Given the description of an element on the screen output the (x, y) to click on. 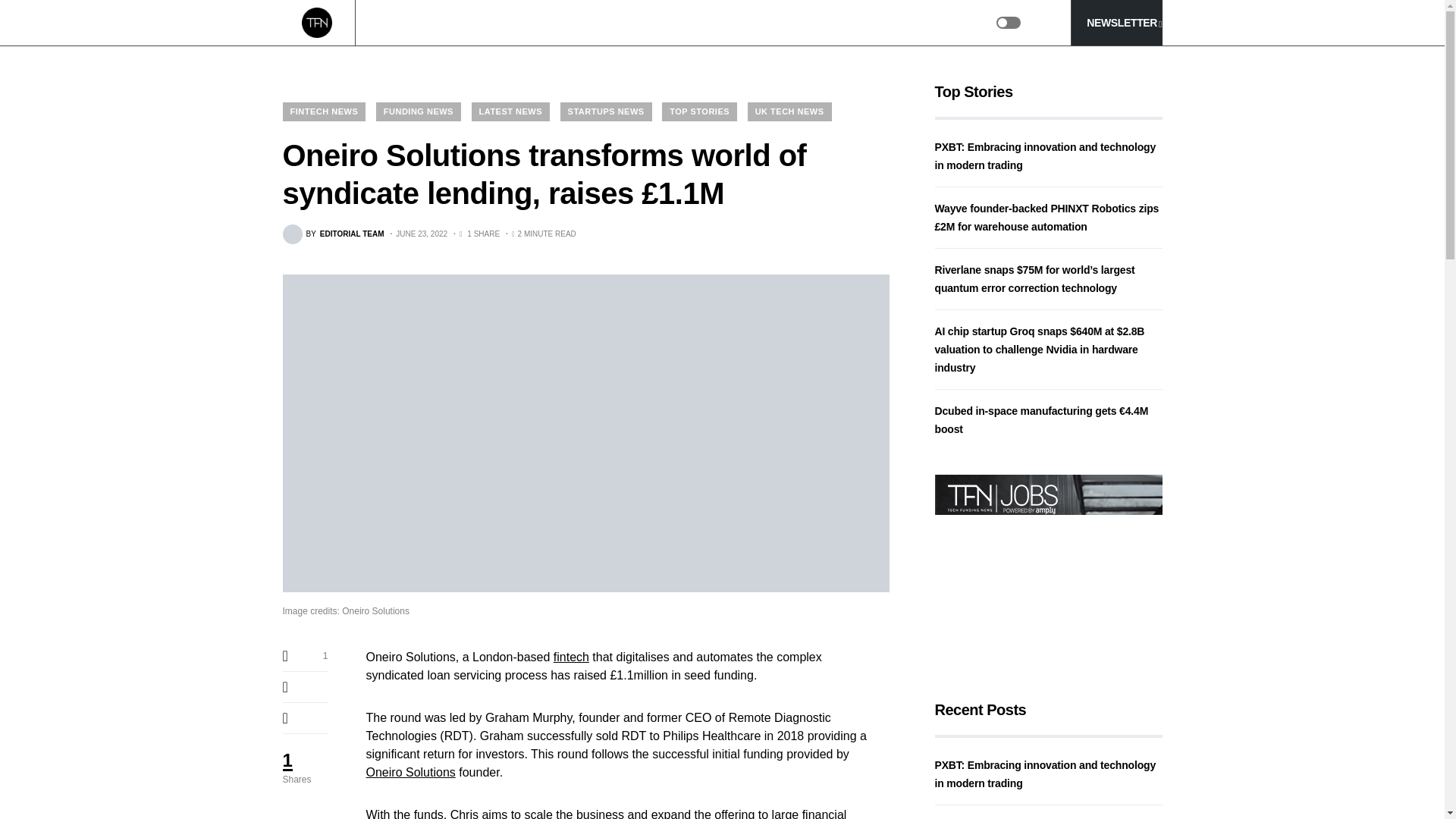
View all posts by Editorial Team (333, 234)
